Given the description of an element on the screen output the (x, y) to click on. 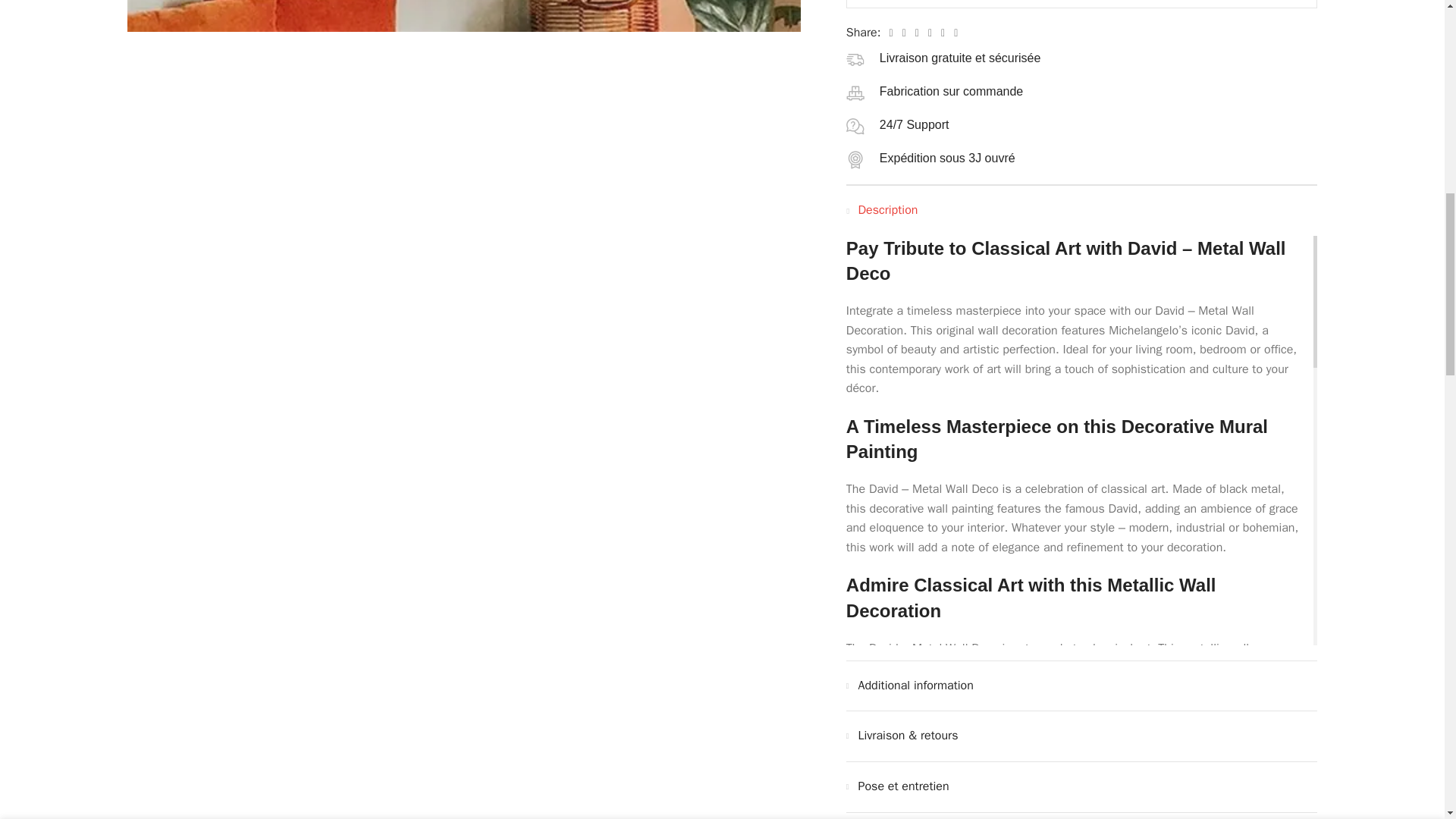
product-support (854, 126)
product-meny-products (854, 93)
product-delivery (854, 59)
david-metal-duvar-dekoru-87283.jpg (464, 16)
product-quality (854, 159)
